Given the description of an element on the screen output the (x, y) to click on. 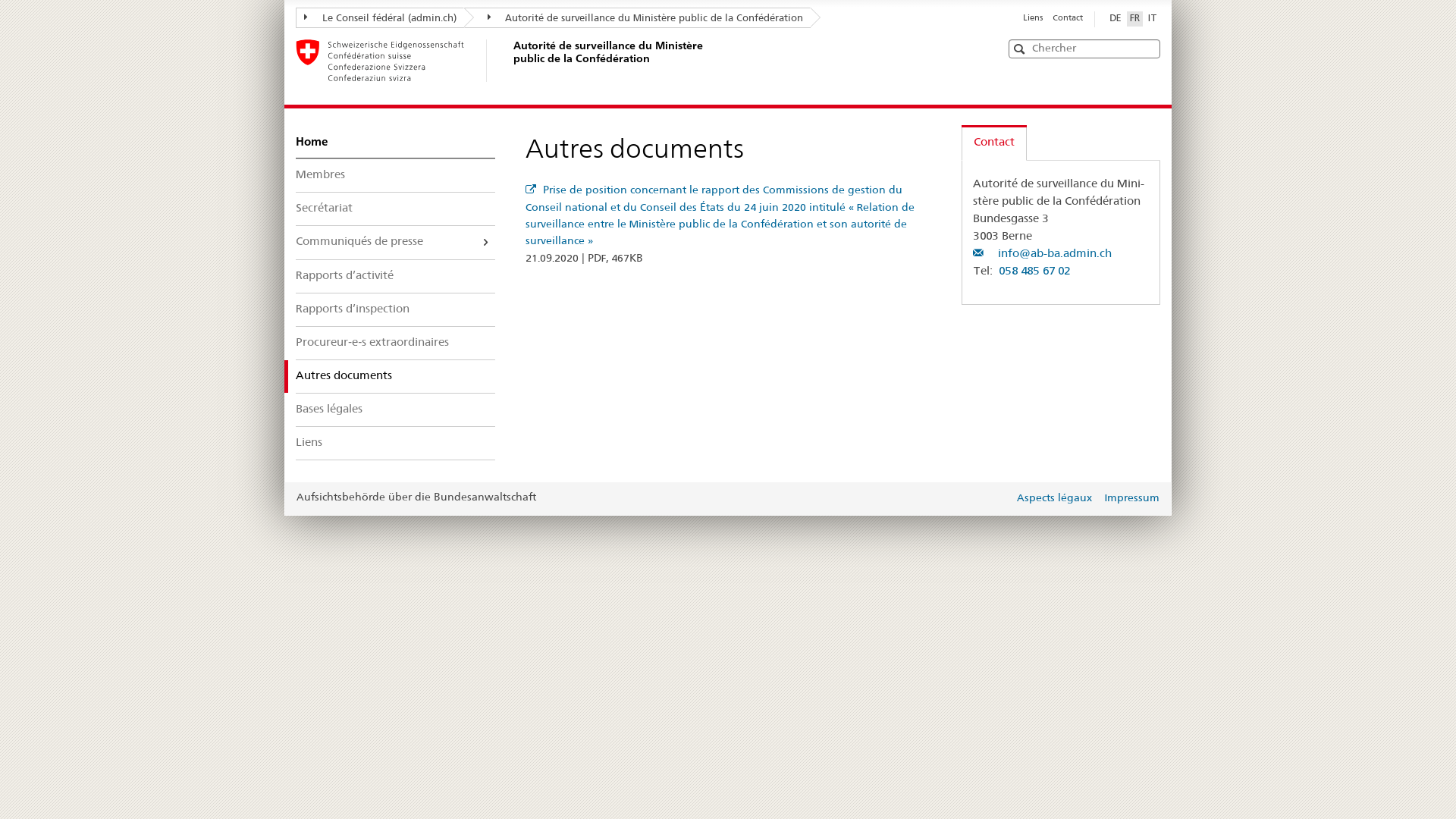
DE Element type: text (1115, 18)
Contact Element type: text (1067, 17)
Autres documents Element type: text (395, 376)
Liens Element type: text (1032, 17)
FR Element type: text (1134, 18)
info@ab-ba.admin.ch Element type: text (1041, 253)
IT Element type: text (1152, 18)
Impressum Element type: text (1131, 498)
058 485 67 02 Element type: text (1033, 271)
Contact Element type: text (993, 142)
Liens Element type: text (395, 442)
Membres Element type: text (395, 175)
Clear Element type: text (1147, 48)
Home Element type: text (395, 141)
